Given the description of an element on the screen output the (x, y) to click on. 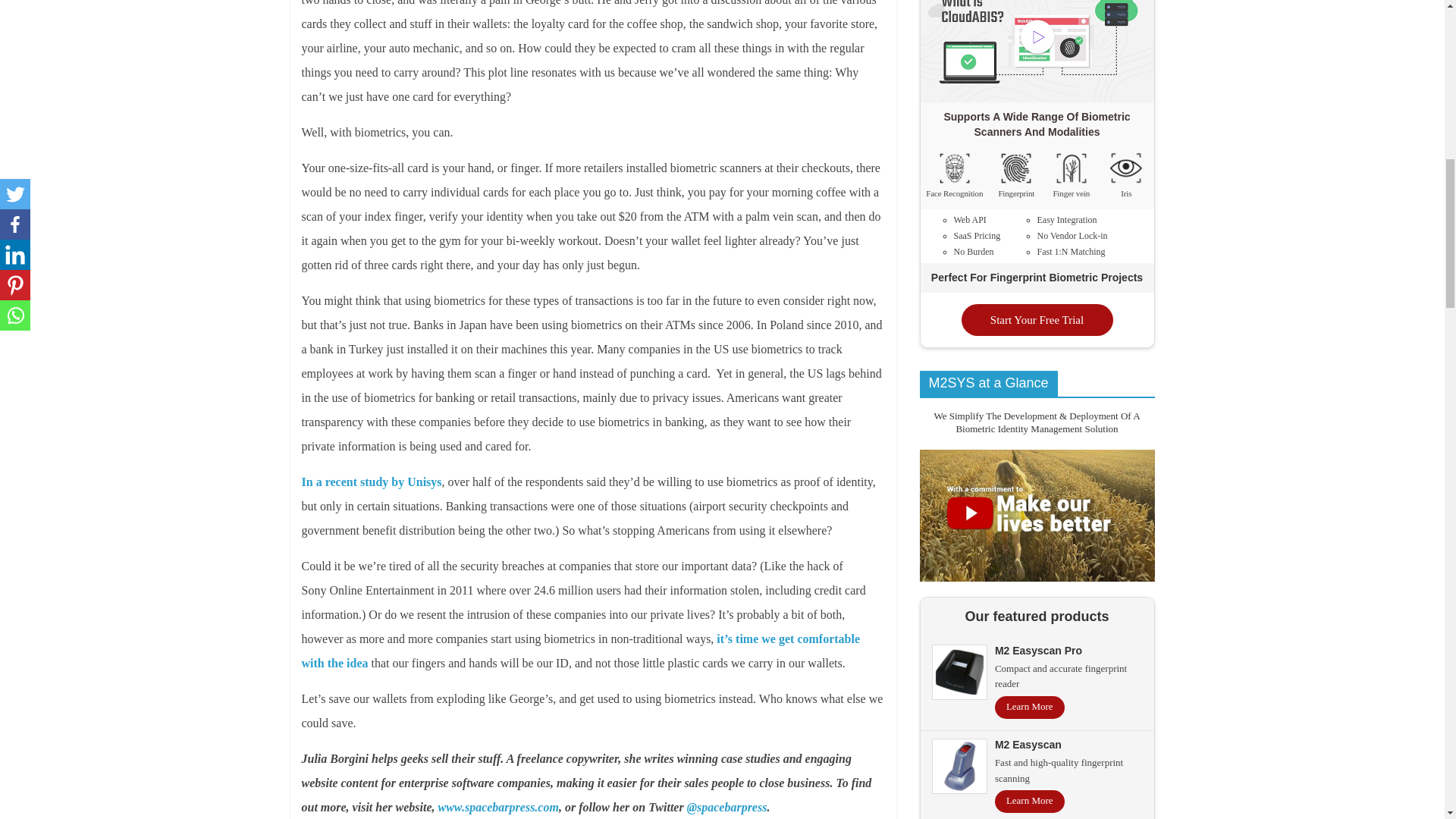
it's time we get comfortable with the idea (580, 650)
In a recent study by Unisys (371, 481)
Spacebar Press Twitter Profile (727, 807)
www.spacebarpress.com (498, 807)
